Given the description of an element on the screen output the (x, y) to click on. 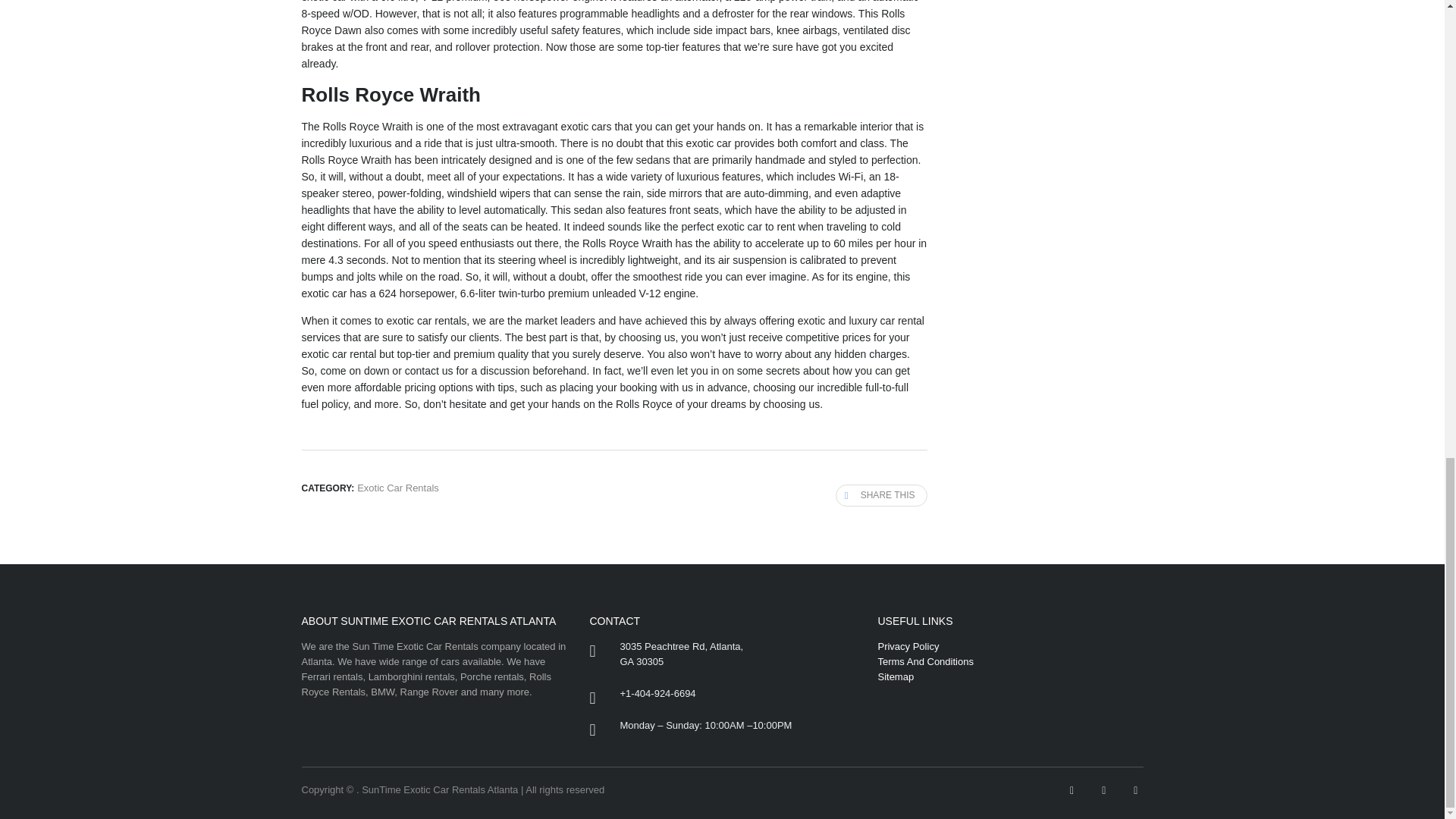
Exotic Car Rentals (397, 487)
Privacy Policy (908, 645)
Share this (881, 495)
SHARE THIS (881, 495)
Sitemap (895, 676)
Terms And Conditions (924, 661)
